Given the description of an element on the screen output the (x, y) to click on. 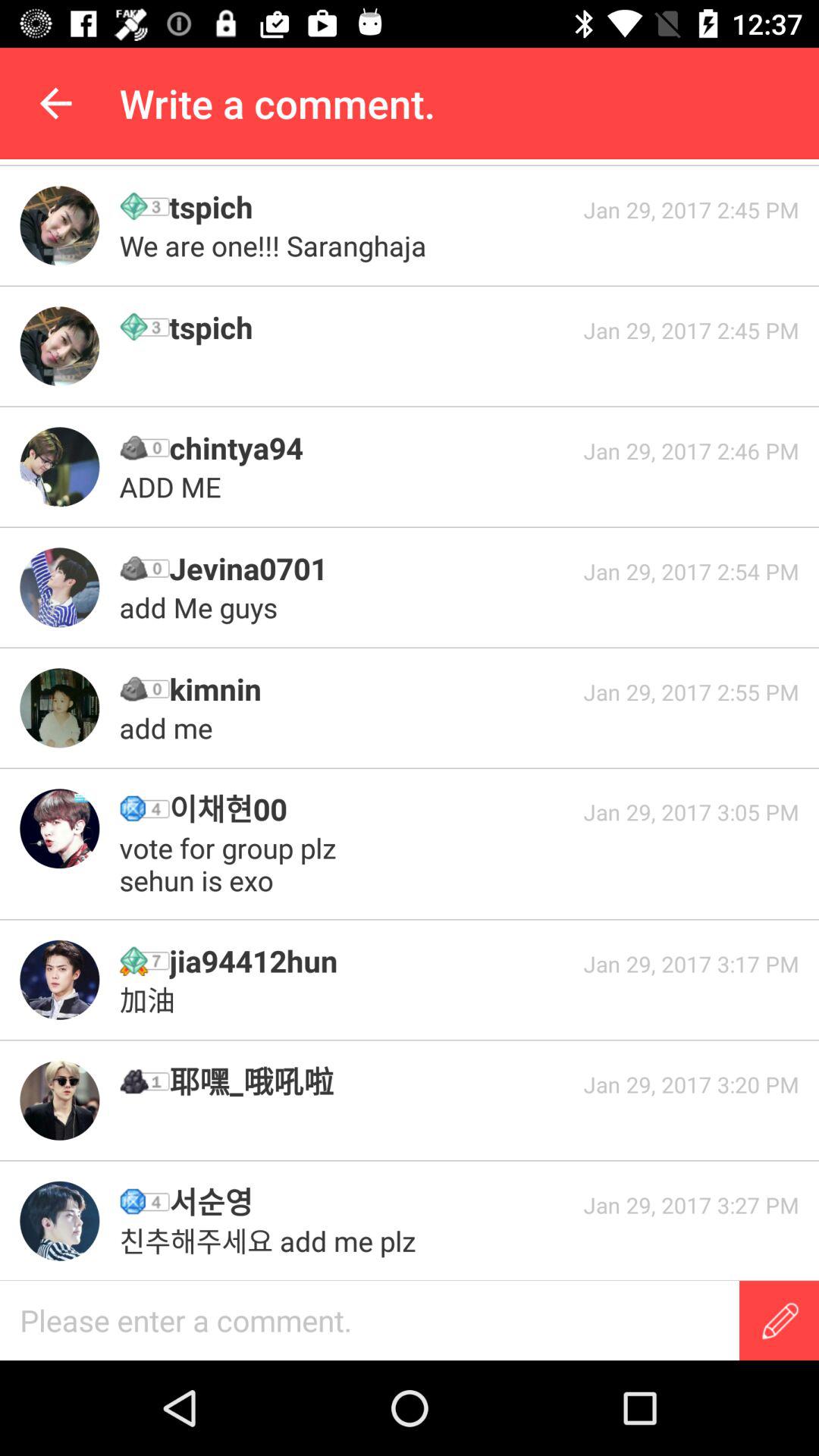
open item next to jan 29 2017 item (371, 1081)
